Given the description of an element on the screen output the (x, y) to click on. 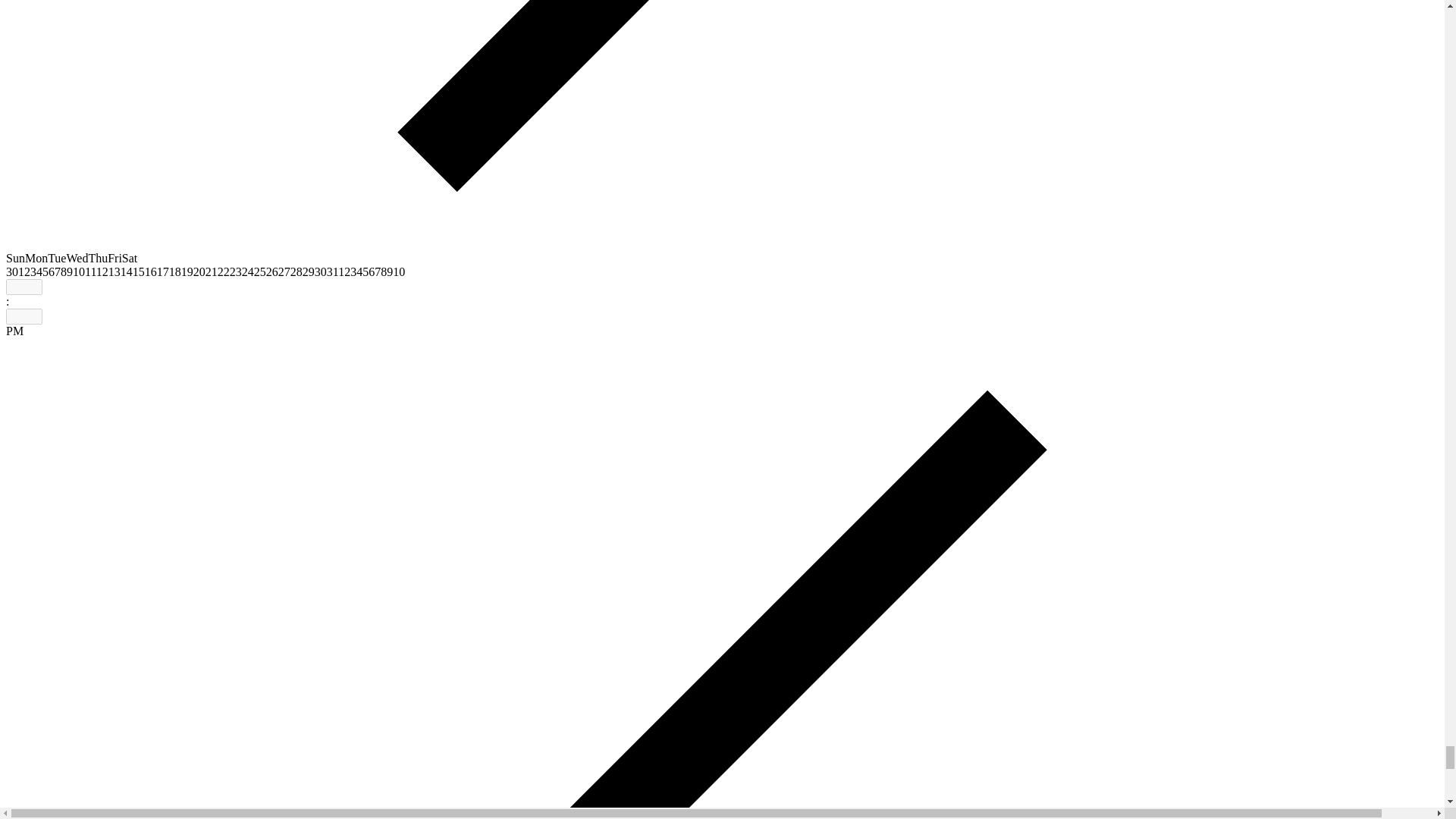
Click to toggle (14, 330)
